Given the description of an element on the screen output the (x, y) to click on. 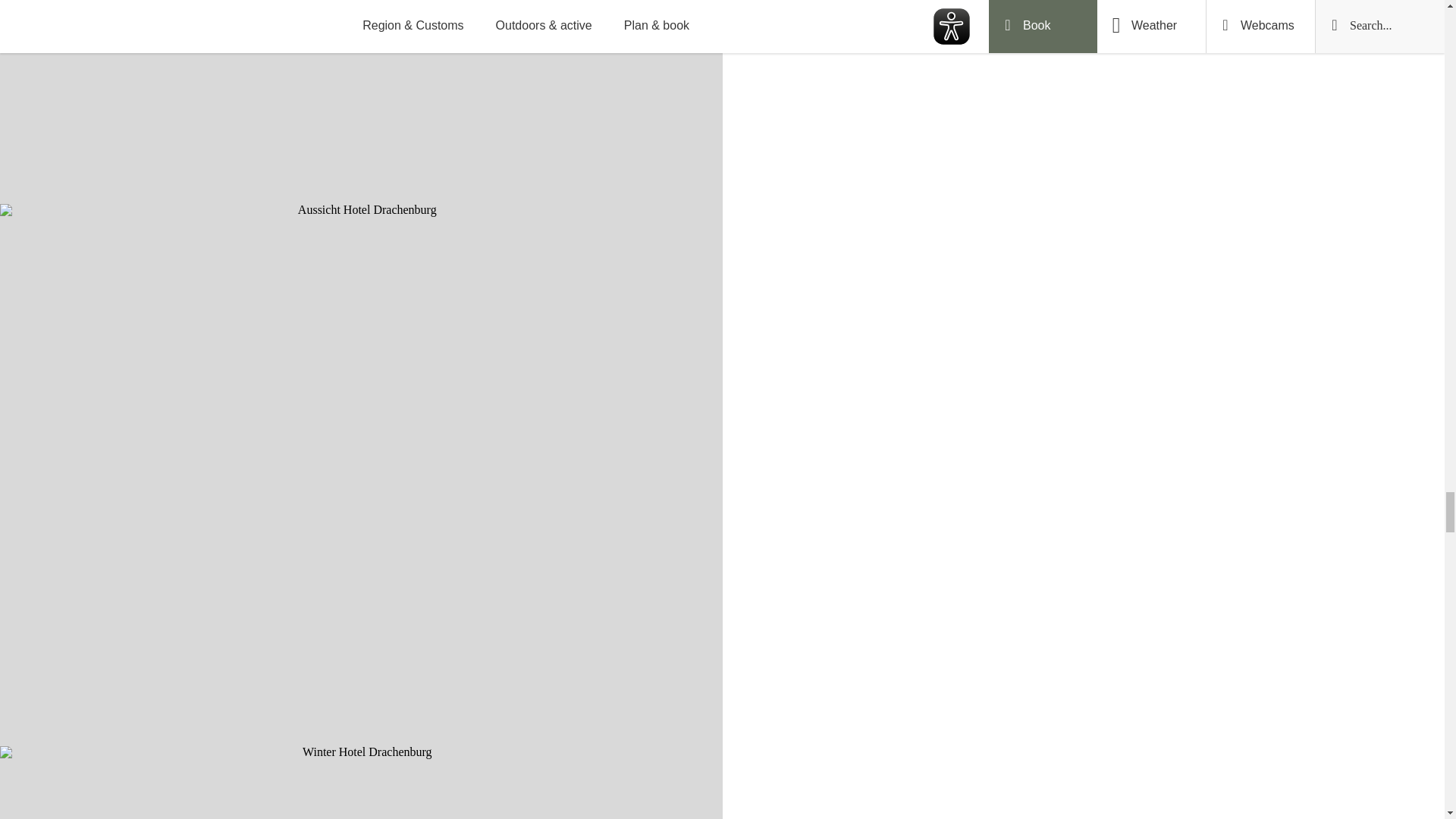
Winter Hotel Drachenburg (361, 782)
